Given the description of an element on the screen output the (x, y) to click on. 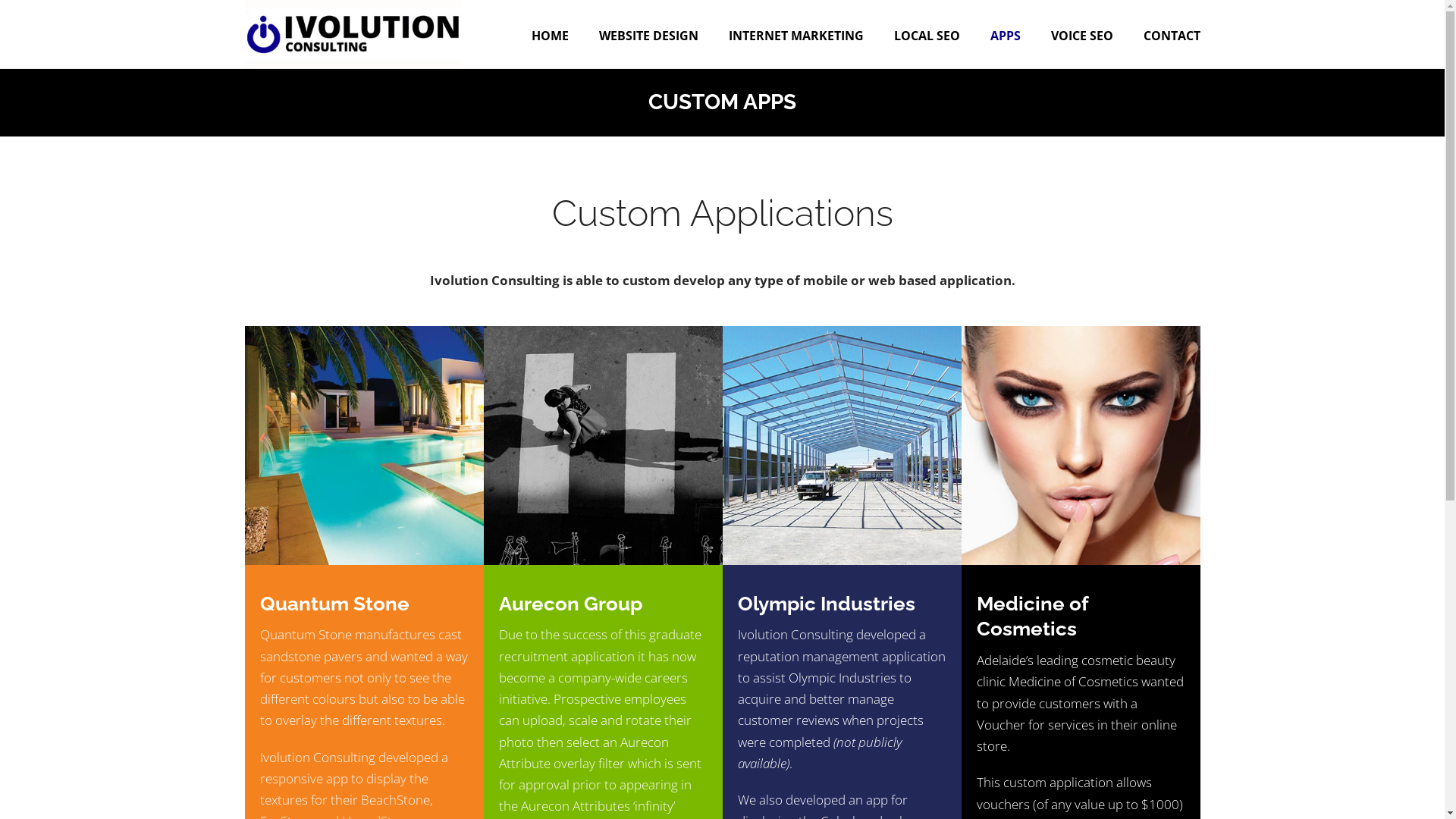
CONTACT Element type: text (1171, 34)
HOME Element type: text (549, 34)
WEBSITE DESIGN Element type: text (648, 34)
APPS Element type: text (1005, 34)
LOCAL SEO Element type: text (926, 34)
VOICE SEO Element type: text (1081, 34)
Internet Marketing | SEO | Website Design Element type: hover (352, 34)
INTERNET MARKETING Element type: text (795, 34)
